Given the description of an element on the screen output the (x, y) to click on. 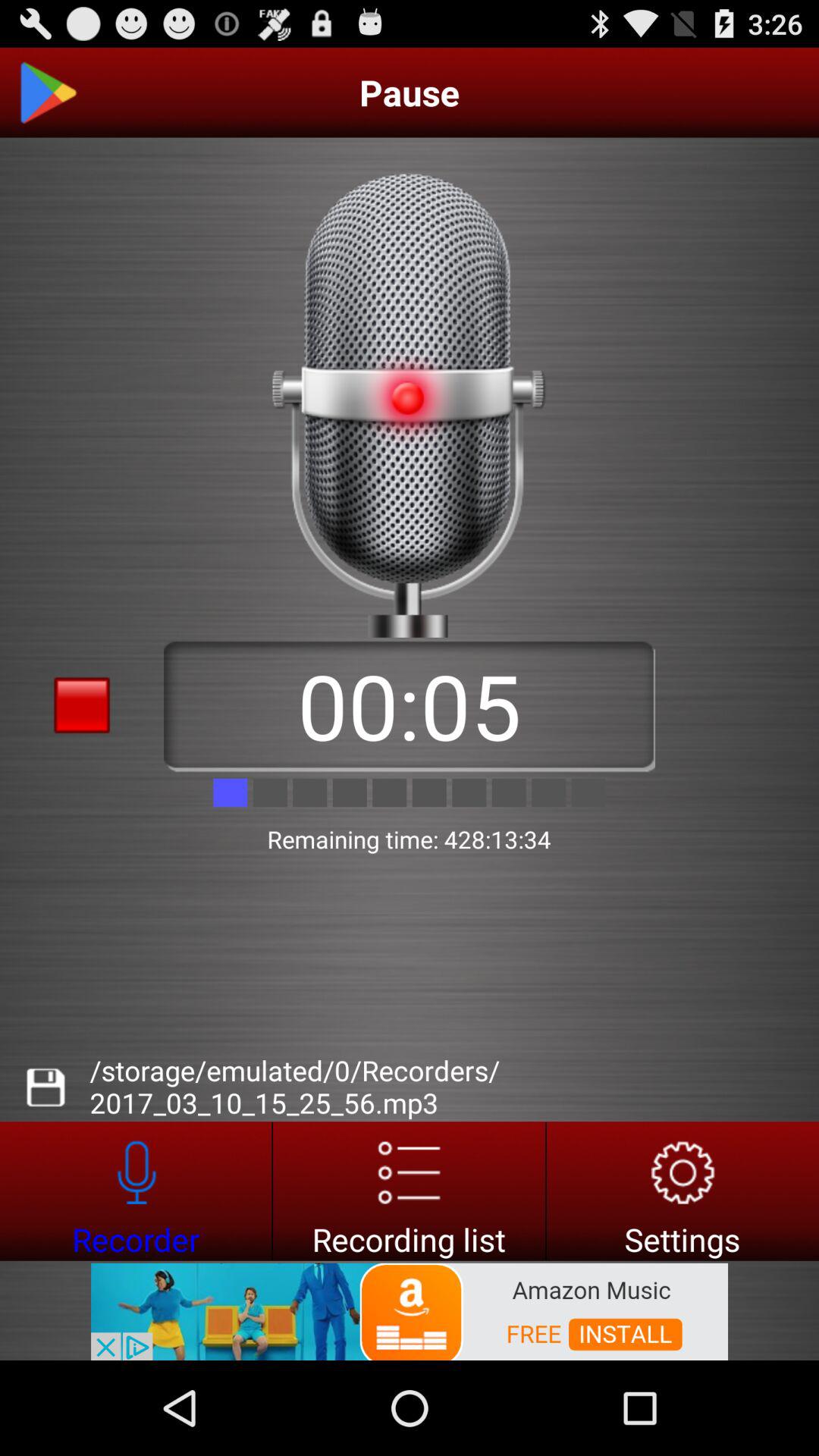
close advert (81, 1335)
